Given the description of an element on the screen output the (x, y) to click on. 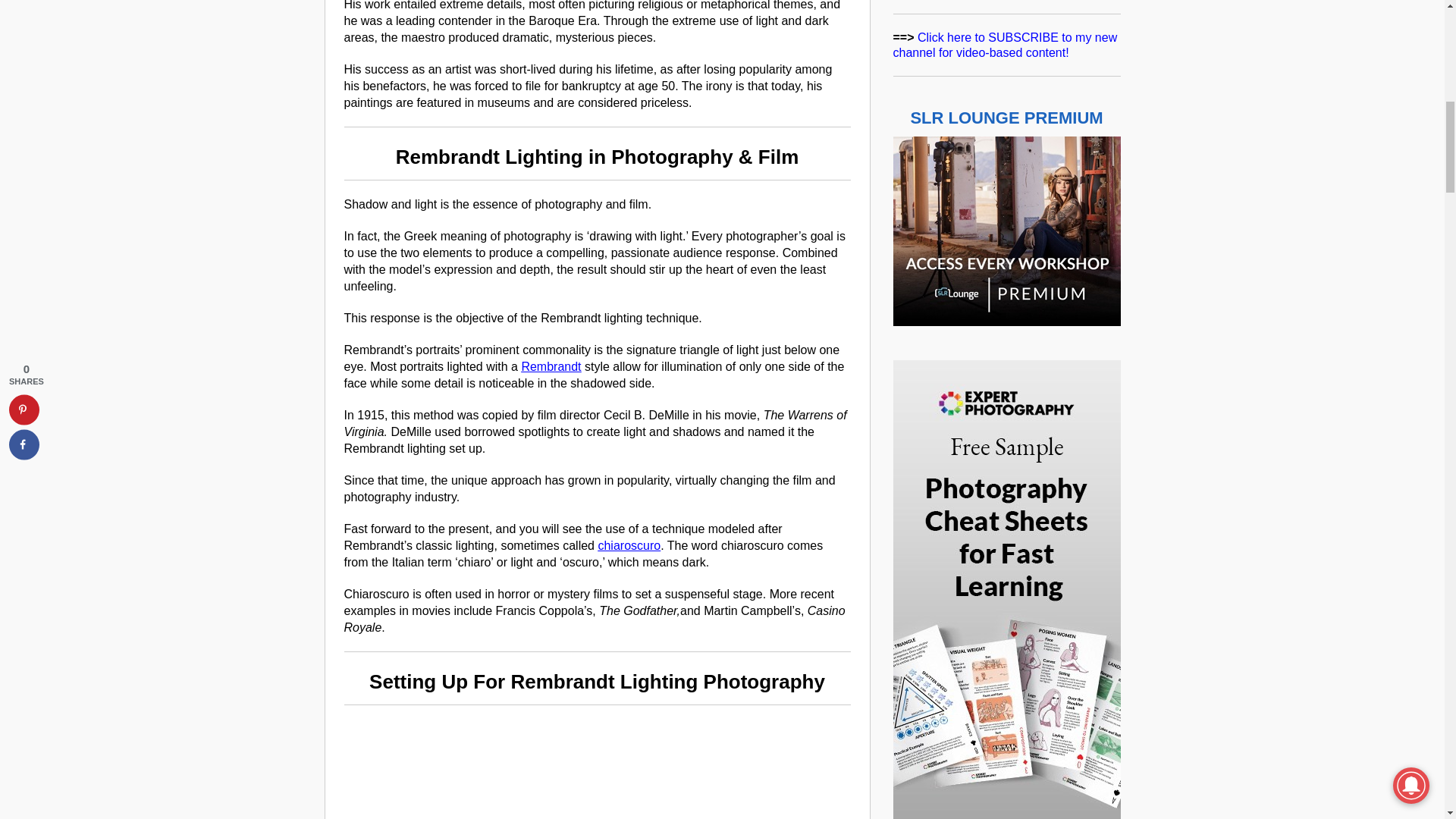
chiaroscuro (628, 545)
Rembrandt (550, 366)
